Given the description of an element on the screen output the (x, y) to click on. 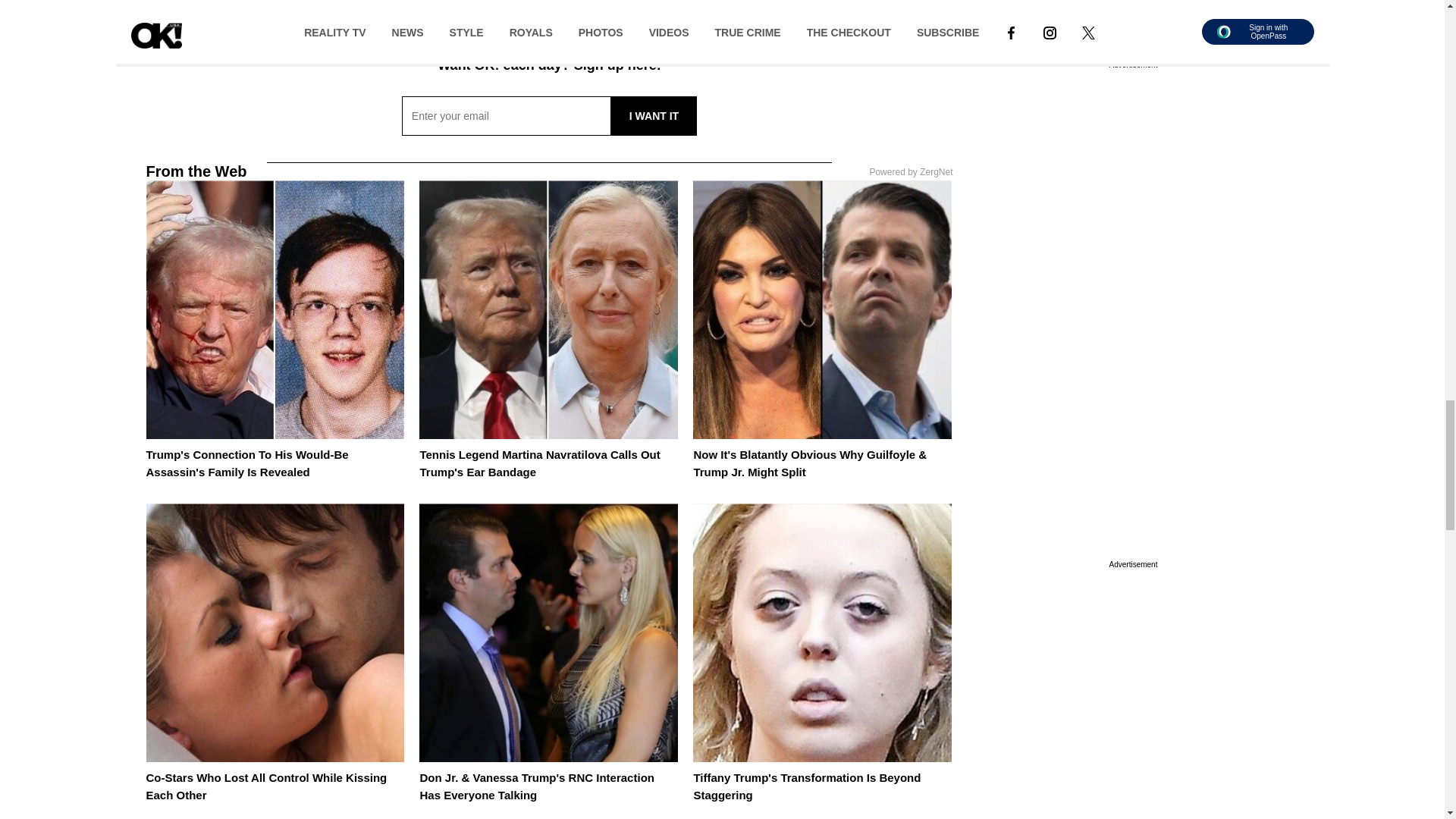
I WANT IT (654, 115)
